Given the description of an element on the screen output the (x, y) to click on. 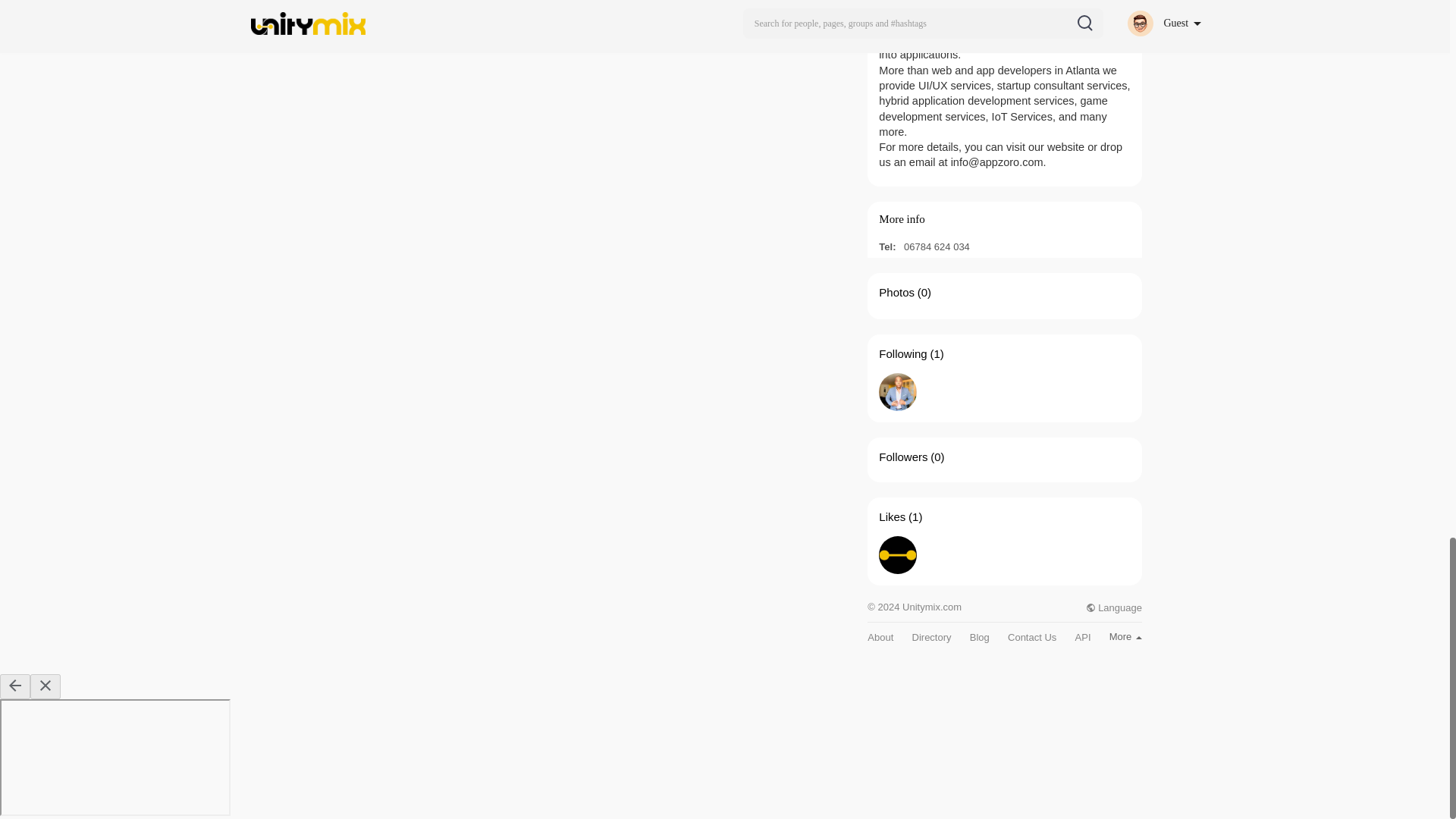
Blog (979, 637)
Photos (896, 292)
UNITYMIX (898, 555)
Contact Us (1032, 637)
Followers (903, 456)
API (1082, 637)
Likes (892, 516)
About (880, 637)
Language (1113, 607)
More (1125, 636)
Directory (932, 637)
Franck Auguste (898, 392)
Following (902, 353)
